Given the description of an element on the screen output the (x, y) to click on. 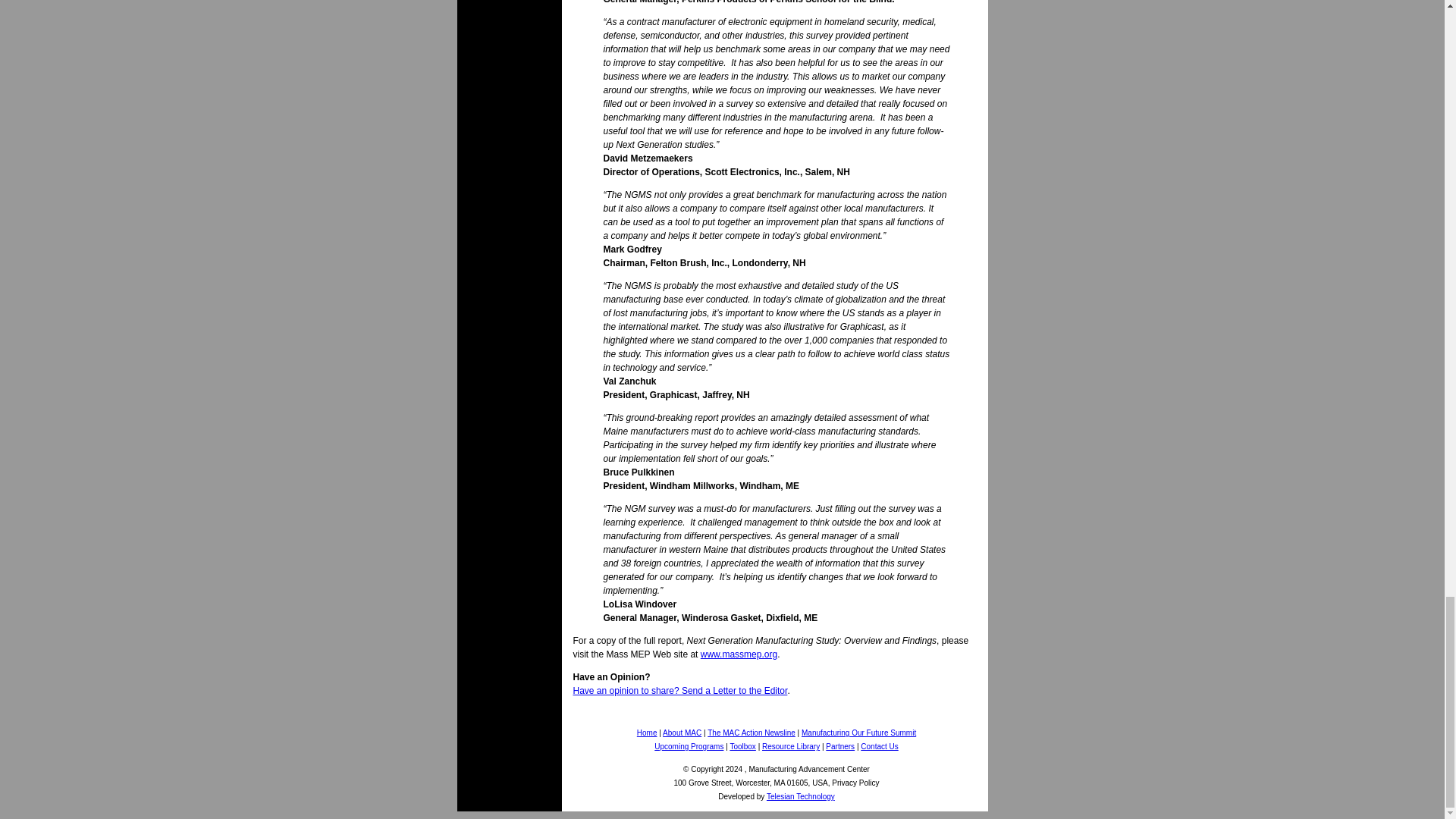
Contact Us (879, 746)
Manufacturing Our Future Summit (858, 732)
The MAC Action Newsline (750, 732)
Toolbox (742, 746)
Upcoming Programs (688, 746)
Partners (839, 746)
Resource Library (790, 746)
www.massmep.org (738, 654)
Toolbox (742, 746)
Privacy Policy (855, 782)
About MAC (681, 732)
About MAC (681, 732)
Home (647, 732)
Resource Library (790, 746)
Contact Us (879, 746)
